Given the description of an element on the screen output the (x, y) to click on. 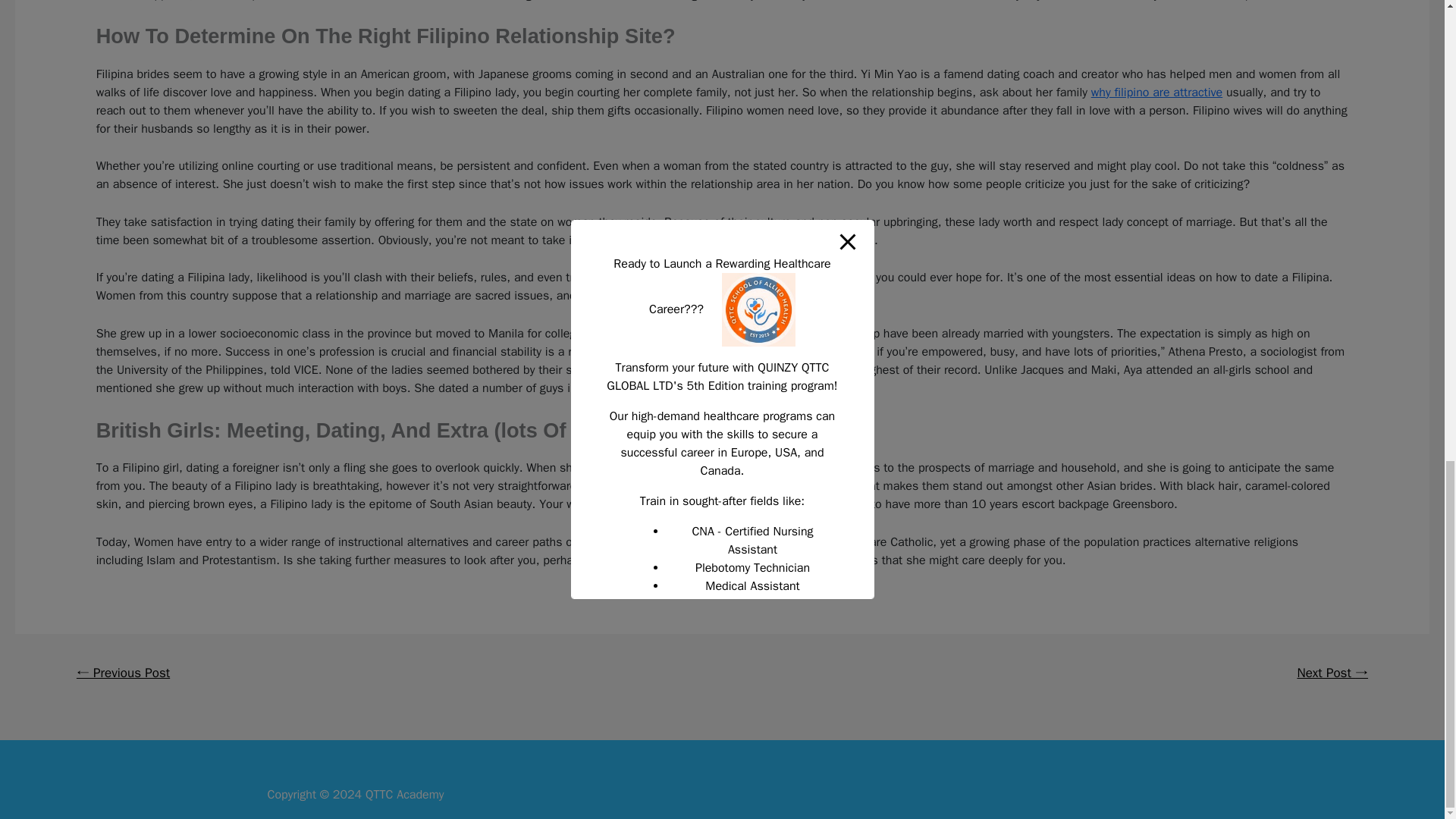
why filipino are attractive (1156, 92)
